Given the description of an element on the screen output the (x, y) to click on. 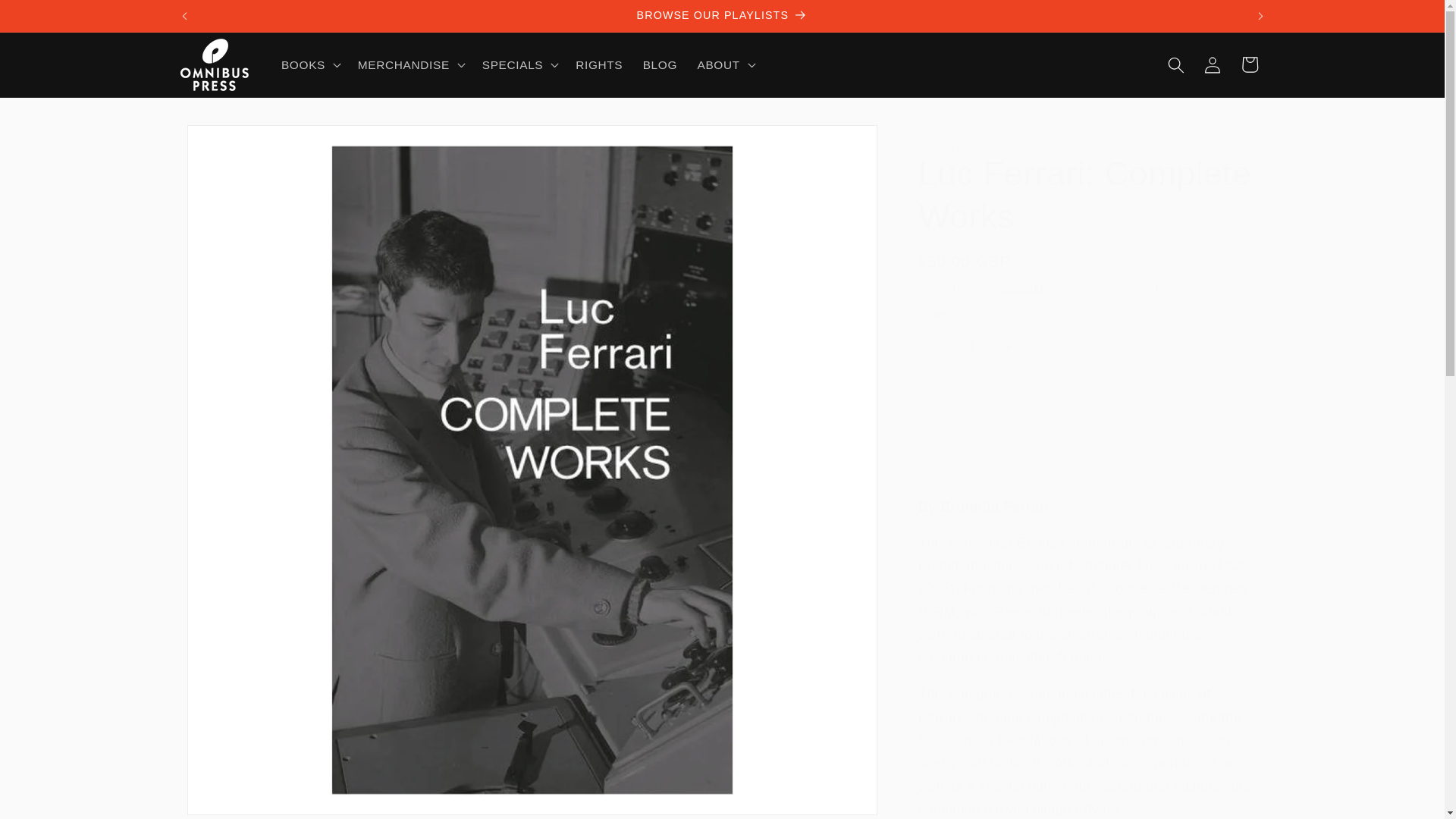
Skip to content (50, 19)
1 (972, 346)
BROWSE OUR PLAYLISTS (721, 15)
